Given the description of an element on the screen output the (x, y) to click on. 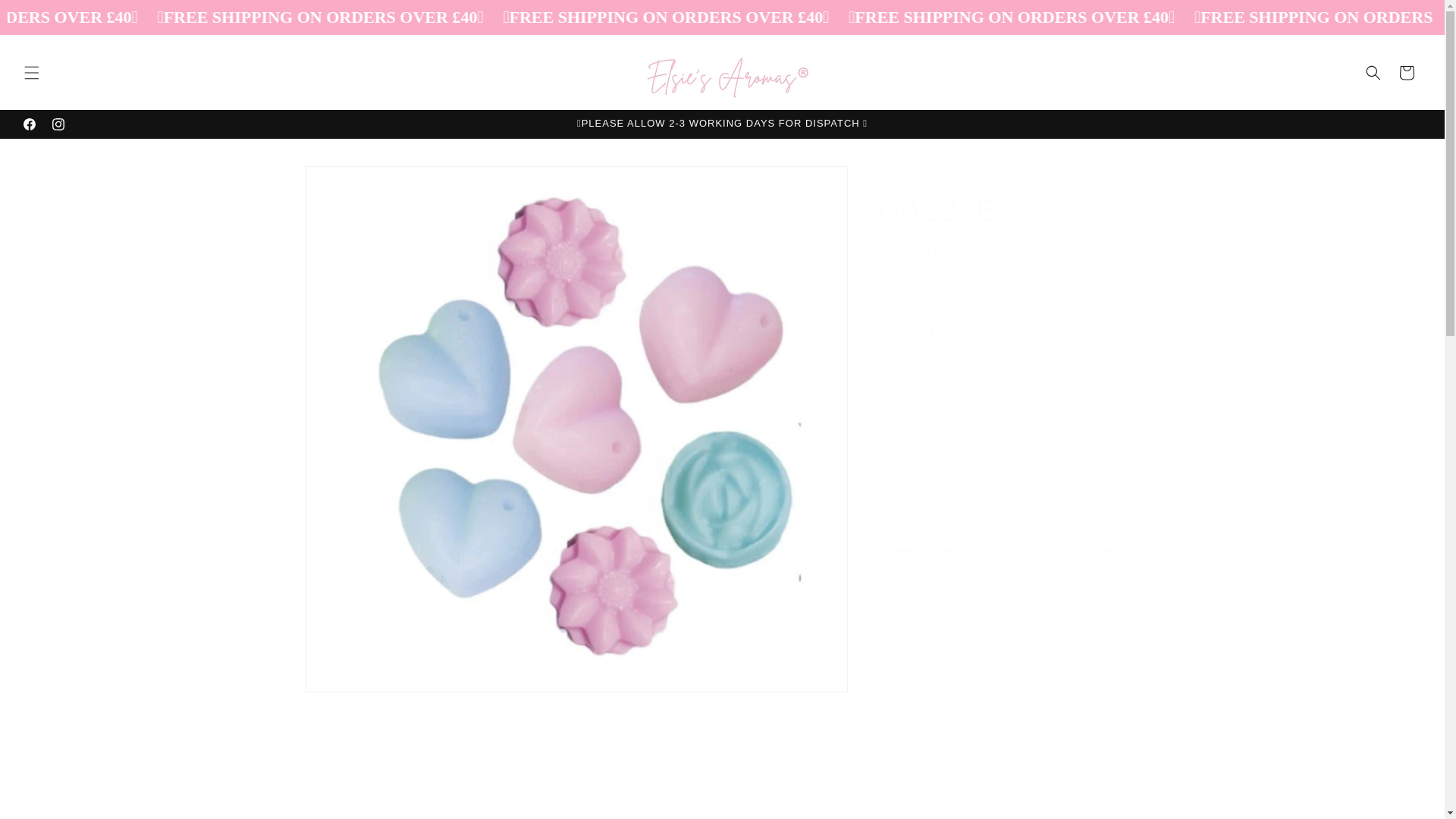
1 (931, 330)
Skip to content (45, 17)
